Given the description of an element on the screen output the (x, y) to click on. 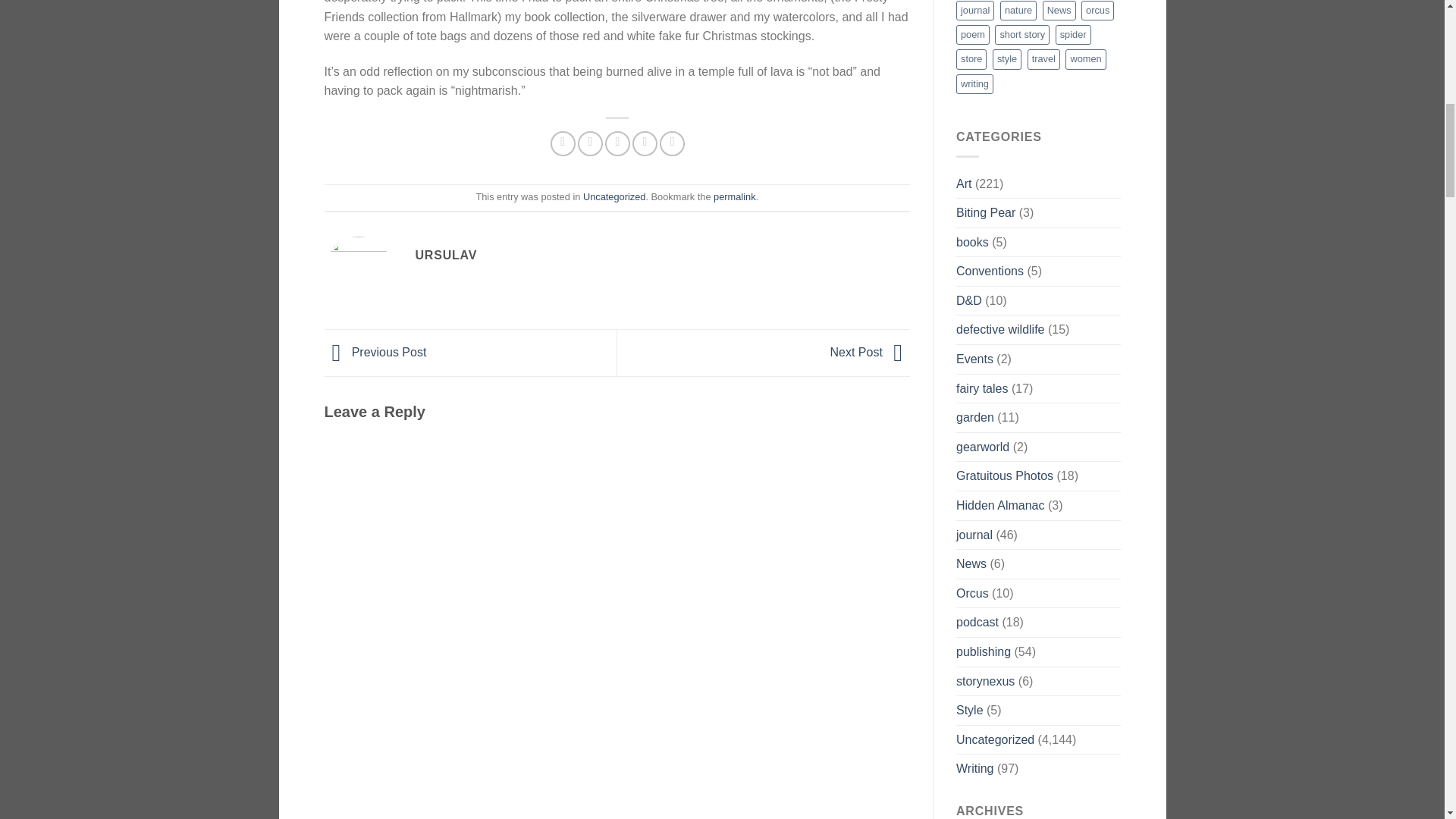
Permalink to  (734, 196)
Share on LinkedIn (671, 143)
Previous Post (375, 351)
Uncategorized (614, 196)
Share on Twitter (590, 143)
Share on Facebook (562, 143)
Pin on Pinterest (644, 143)
Email to a Friend (617, 143)
permalink (734, 196)
